Given the description of an element on the screen output the (x, y) to click on. 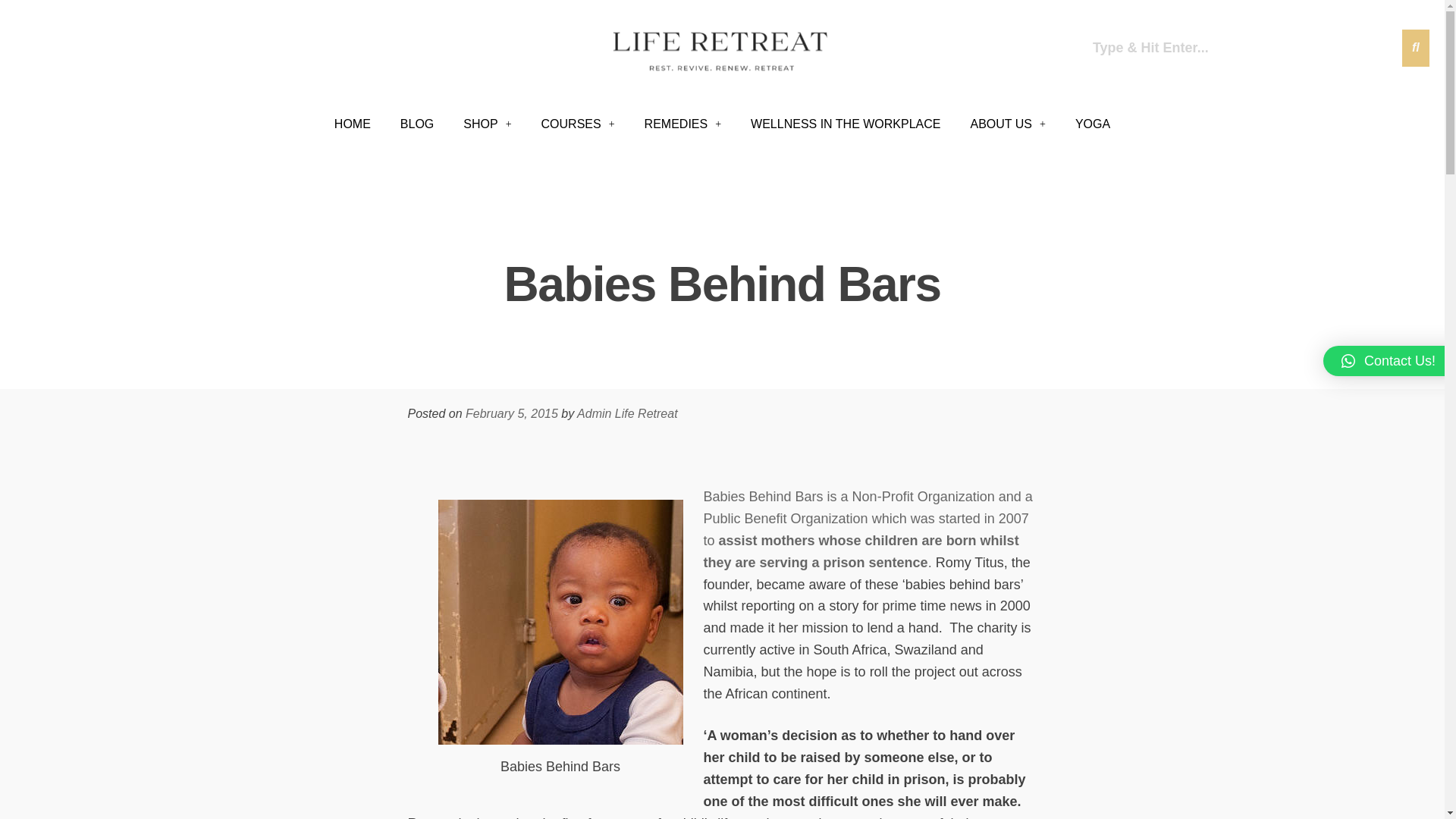
REMEDIES (682, 124)
Search (1244, 47)
SHOP (486, 124)
YOGA (1092, 124)
February 5, 2015 (511, 413)
HOME (352, 124)
COURSES (577, 124)
BLOG (416, 124)
Admin Life Retreat (627, 413)
WELLNESS IN THE WORKPLACE (845, 124)
ABOUT US (1008, 124)
